Given the description of an element on the screen output the (x, y) to click on. 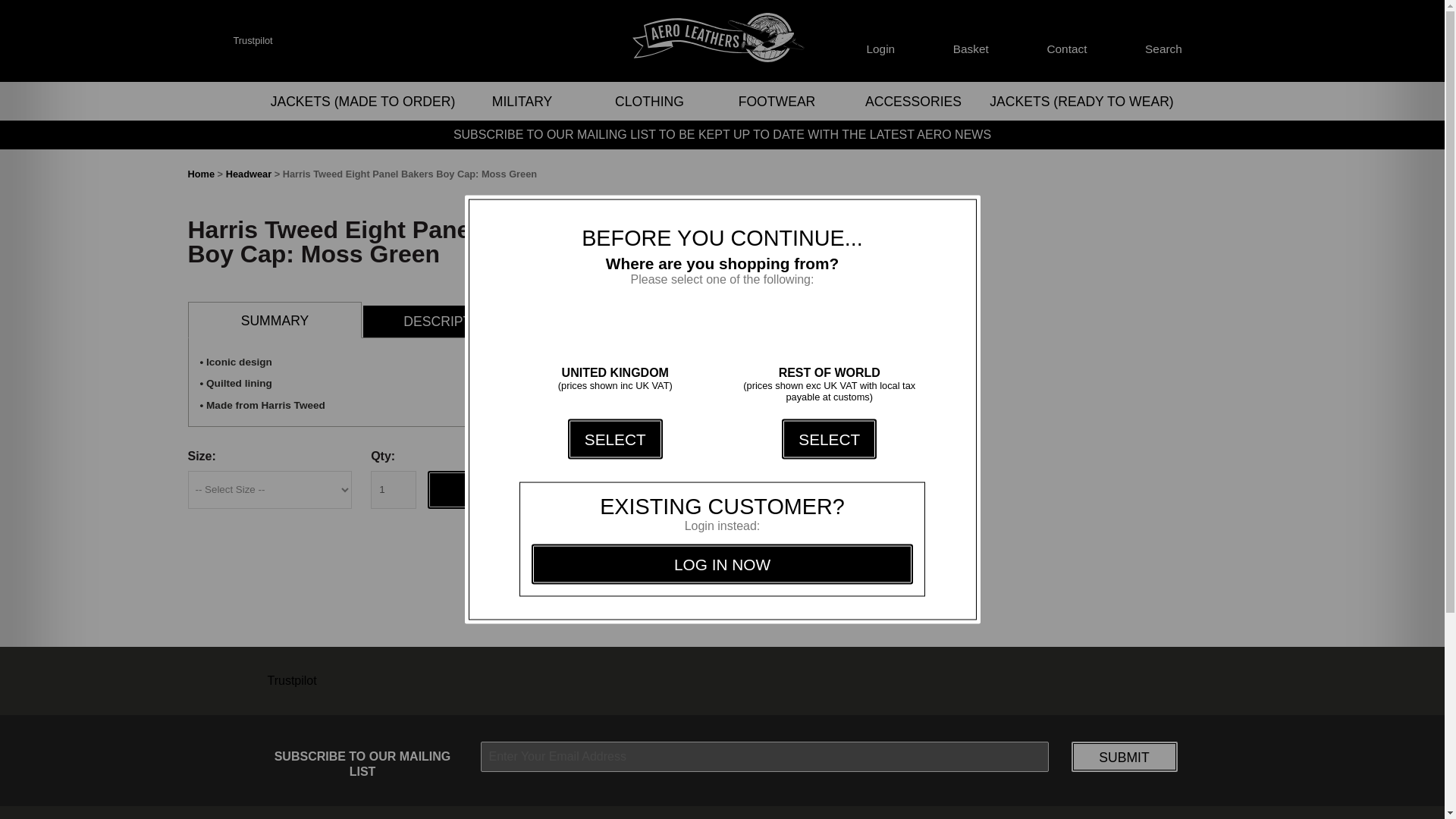
Aero Leather Clothing (721, 40)
Login (880, 40)
CLOTHING (649, 101)
Basket (970, 40)
Contact (1066, 40)
FOOTWEAR (776, 101)
ACCESSORIES (912, 101)
MILITARY (521, 101)
Trustpilot (252, 40)
1 (393, 489)
